Given the description of an element on the screen output the (x, y) to click on. 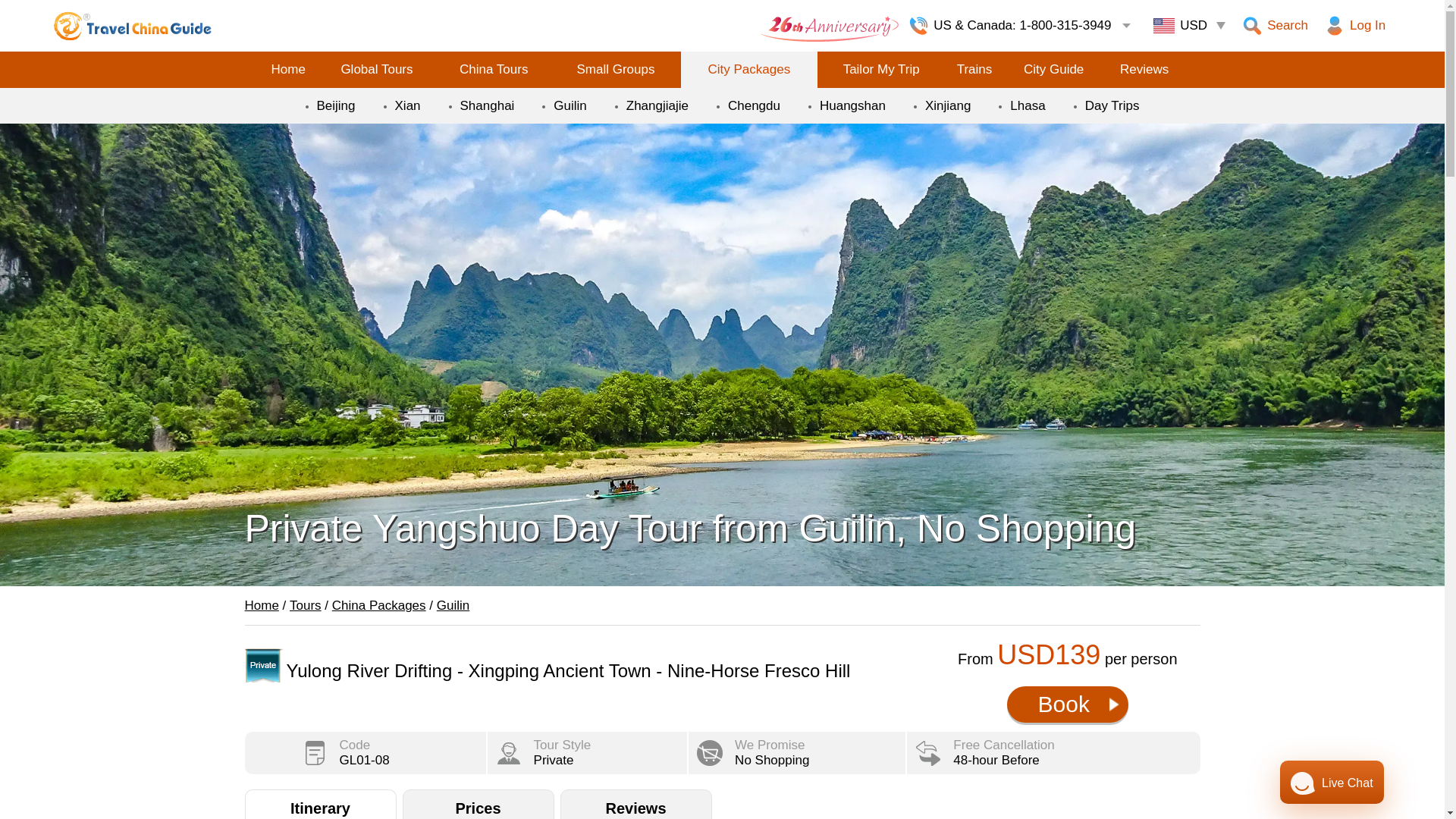
Search (1278, 25)
Day Trips (1112, 105)
Book (1067, 704)
Reviews (1144, 69)
Huangshan (852, 105)
Chengdu (754, 105)
China Tours (493, 69)
Trains (973, 69)
Shanghai (487, 105)
China Packages (378, 605)
Guilin (452, 605)
Beijing (336, 105)
Lhasa (1027, 105)
Small Groups (614, 69)
Tours (305, 605)
